Given the description of an element on the screen output the (x, y) to click on. 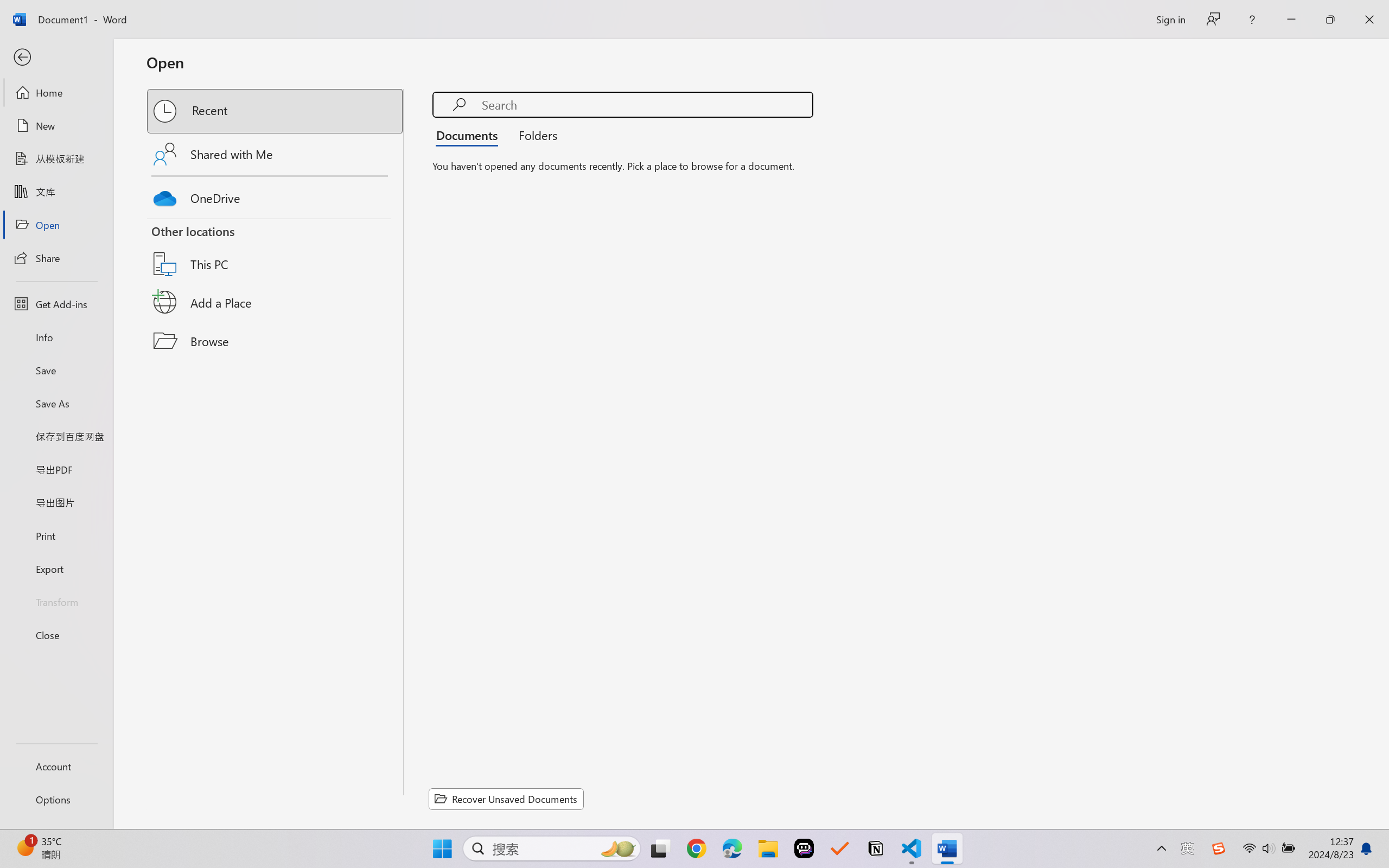
Folders (534, 134)
Save As (56, 403)
Account (56, 765)
Export (56, 568)
Options (56, 798)
Documents (469, 134)
This PC (275, 249)
